Given the description of an element on the screen output the (x, y) to click on. 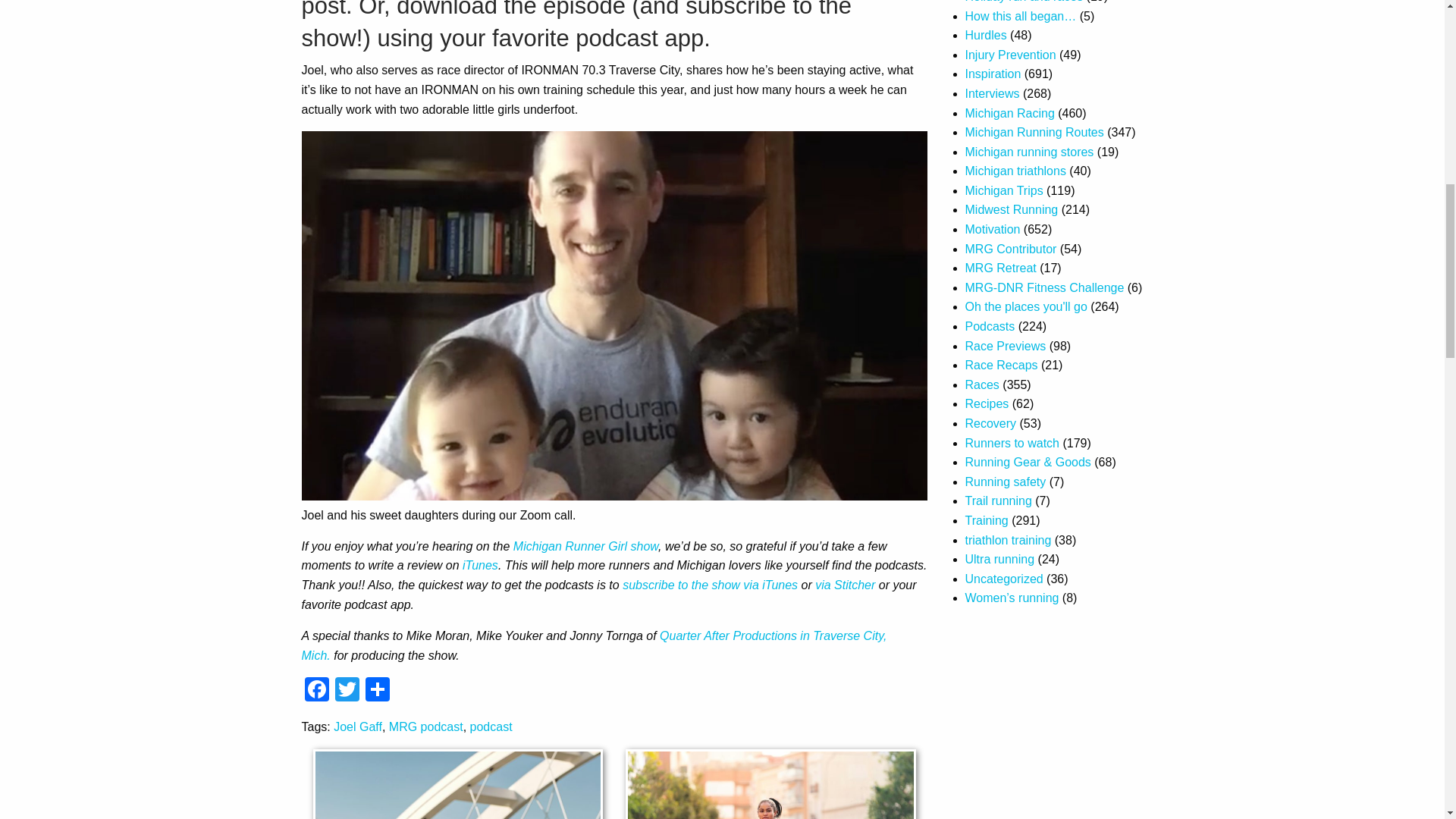
Twitter (346, 691)
Facebook (316, 691)
